Given the description of an element on the screen output the (x, y) to click on. 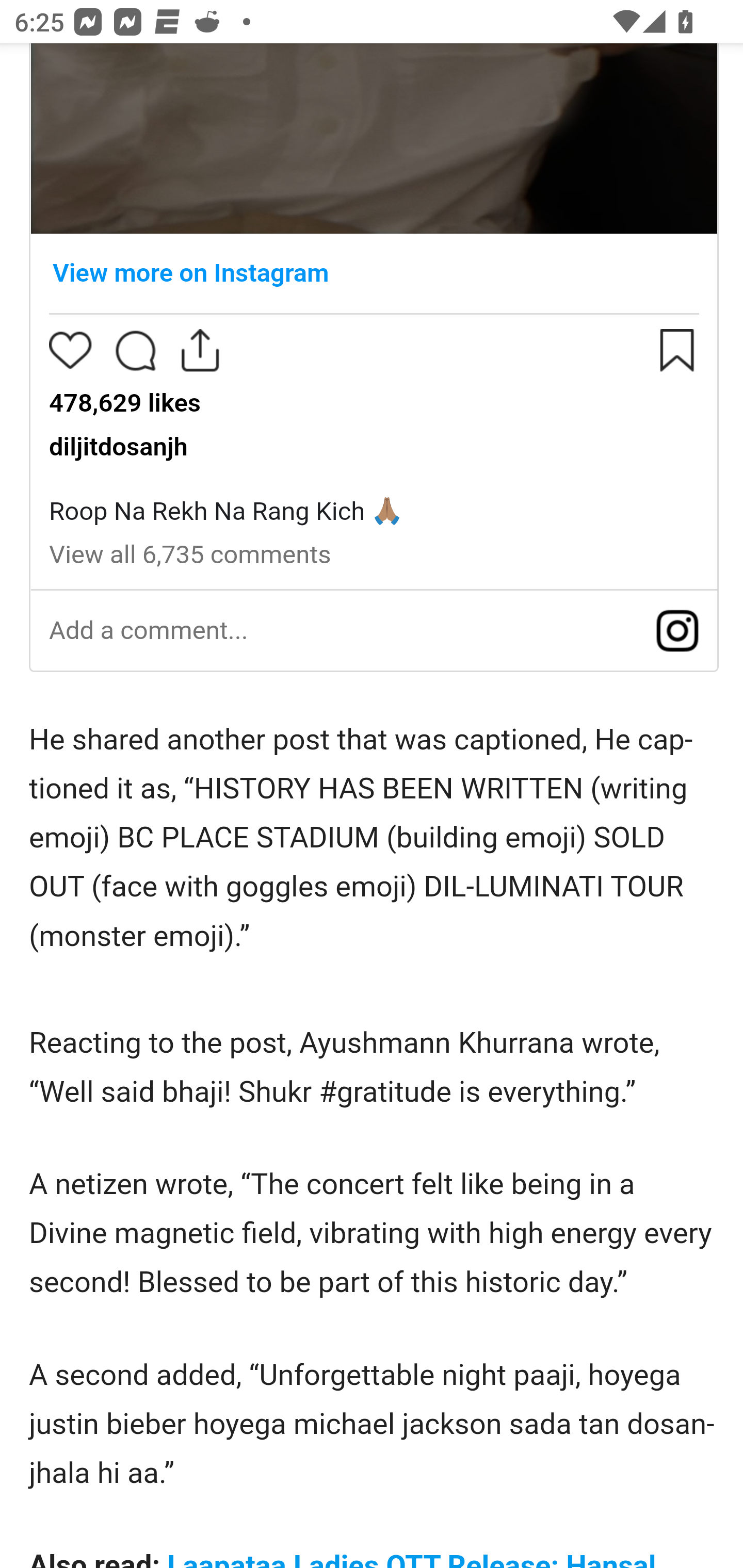
View more on Instagram (373, 272)
Like (69, 351)
Comment (135, 351)
Share (199, 351)
Save (676, 351)
478,629 likes (124, 402)
diljitdosanjh (117, 447)
View all 6,735 comments (189, 554)
Instagram (676, 630)
Add a comment... (147, 630)
